Given the description of an element on the screen output the (x, y) to click on. 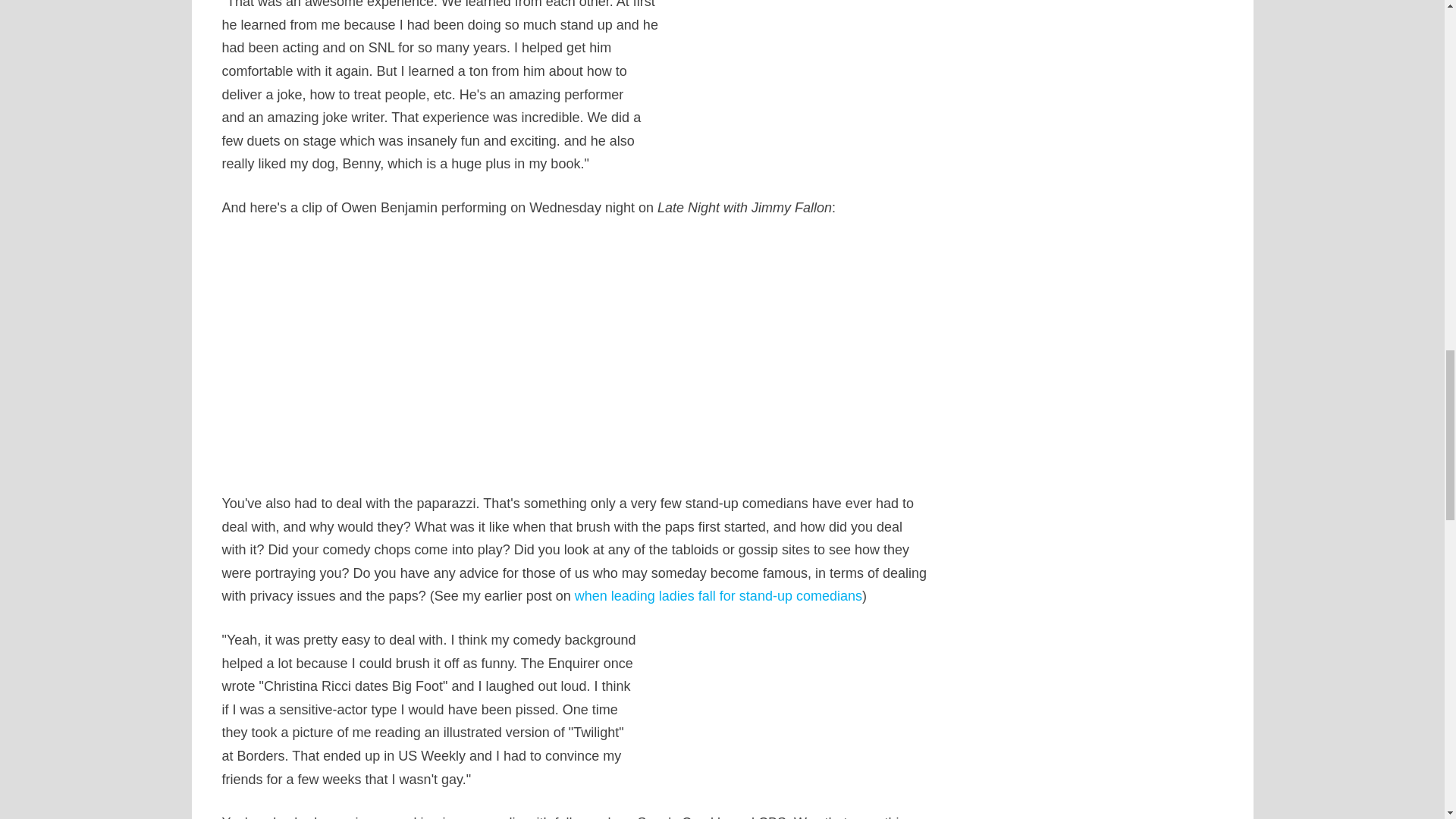
when leading ladies fall for stand-up comedians (718, 595)
